Given the description of an element on the screen output the (x, y) to click on. 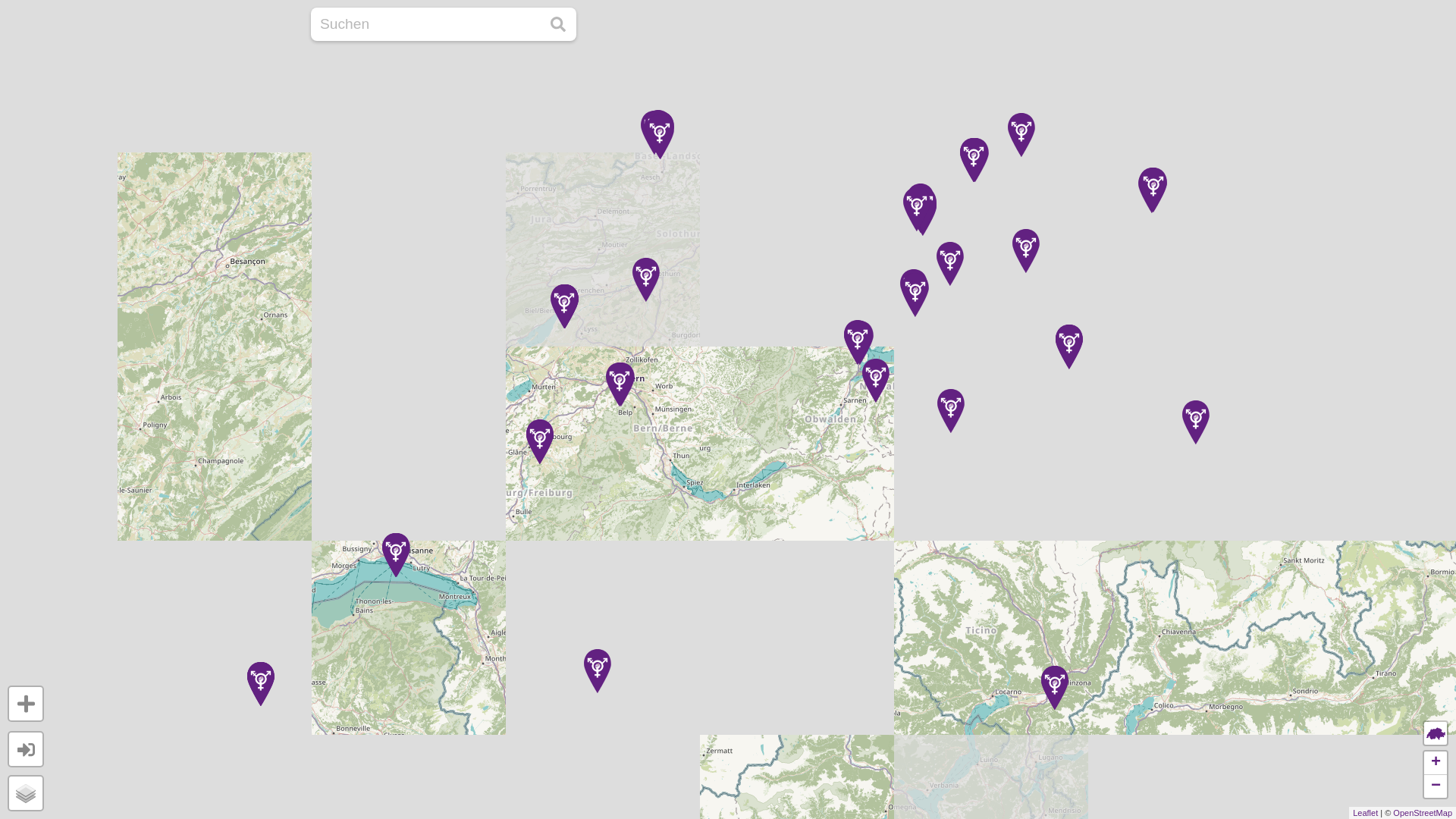
Leaflet Element type: text (1364, 812)
+ Element type: text (1435, 762)
OpenStreetMap Element type: text (1422, 812)
Layers Element type: hover (25, 792)
